Given the description of an element on the screen output the (x, y) to click on. 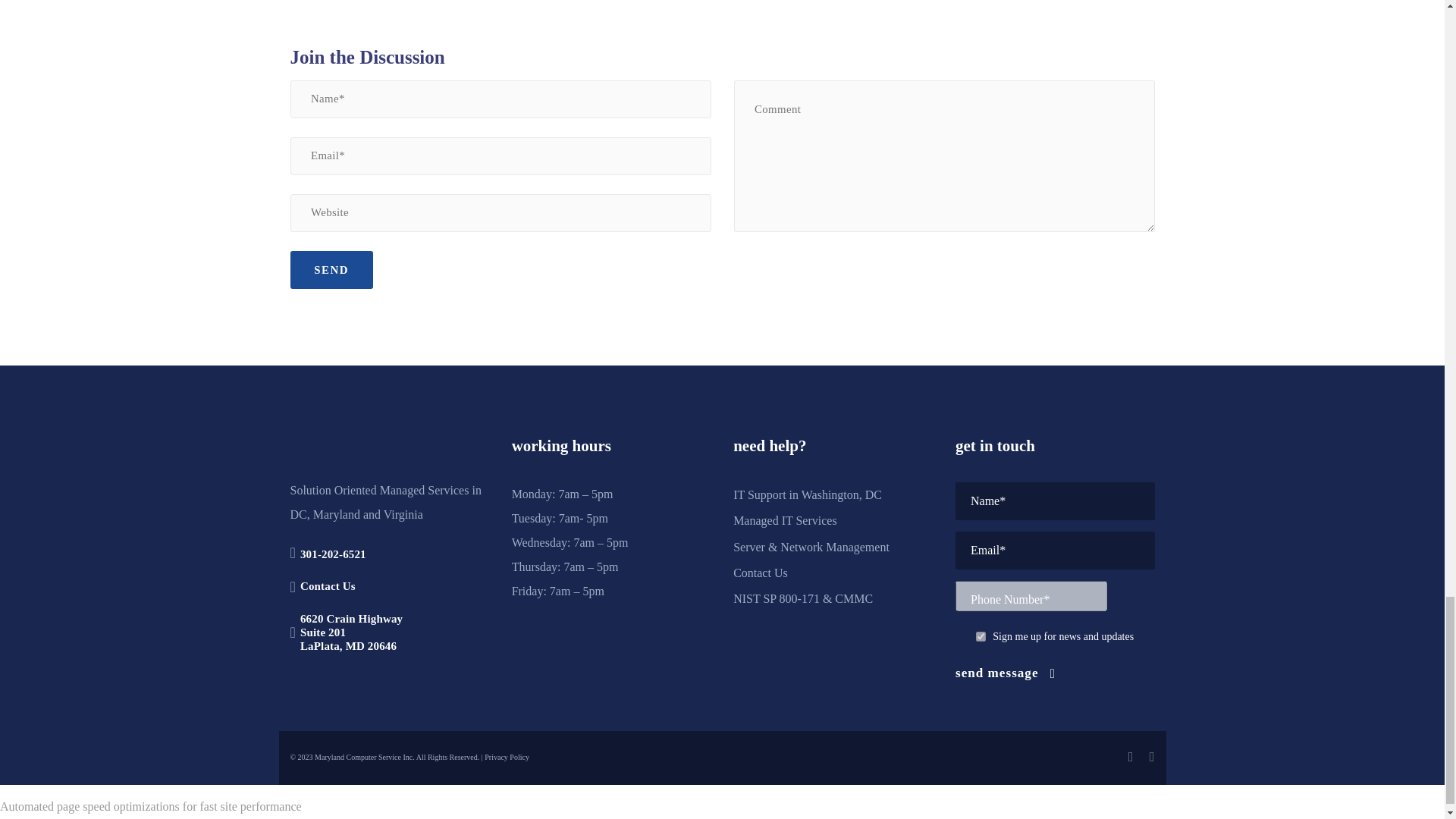
Send (330, 269)
yes (980, 636)
